Given the description of an element on the screen output the (x, y) to click on. 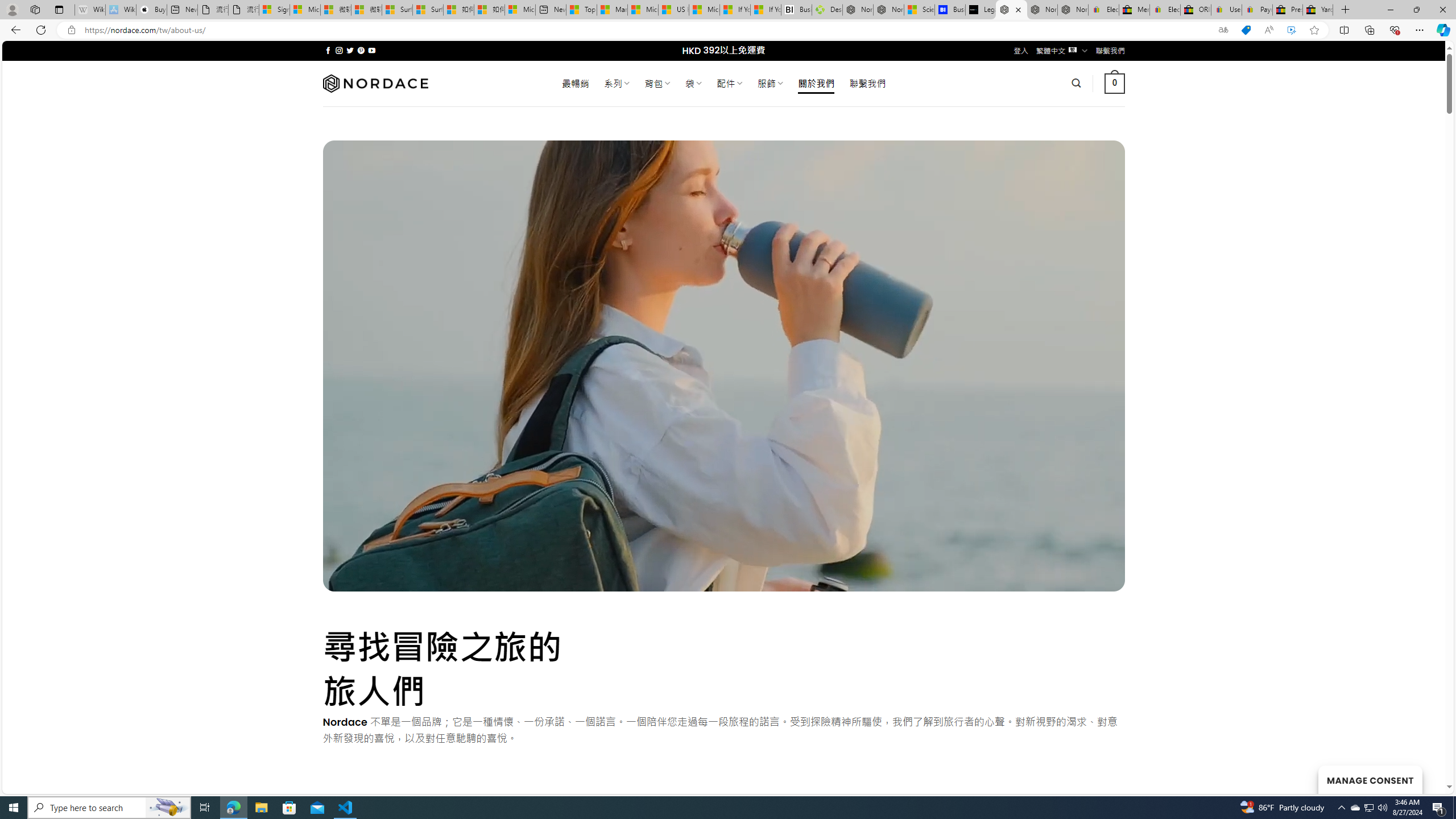
  0   (1115, 83)
MANAGE CONSENT (1369, 779)
Payments Terms of Use | eBay.com (1256, 9)
Show translate options (1222, 29)
User Privacy Notice | eBay (1226, 9)
